Given the description of an element on the screen output the (x, y) to click on. 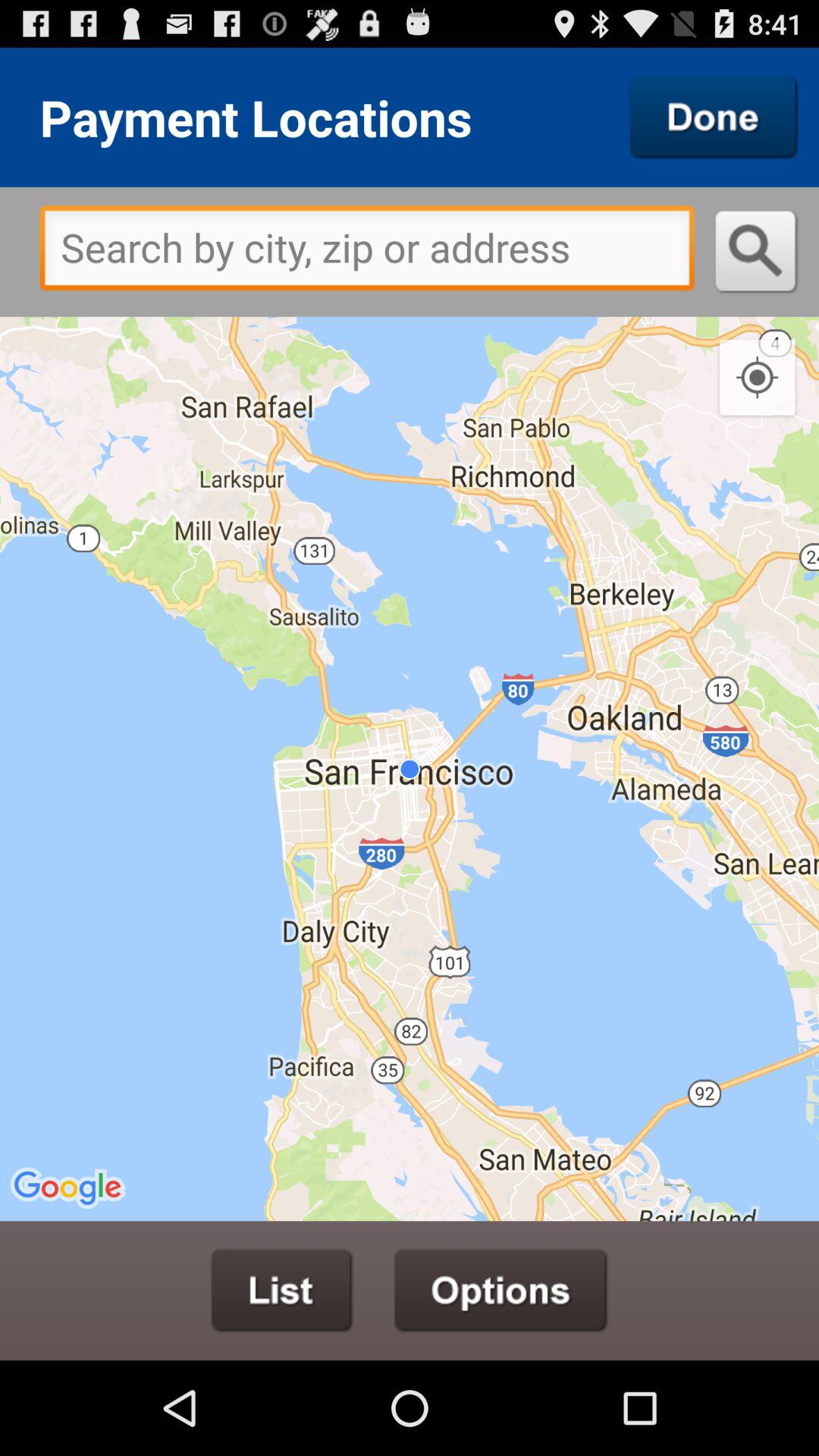
done button (714, 117)
